Given the description of an element on the screen output the (x, y) to click on. 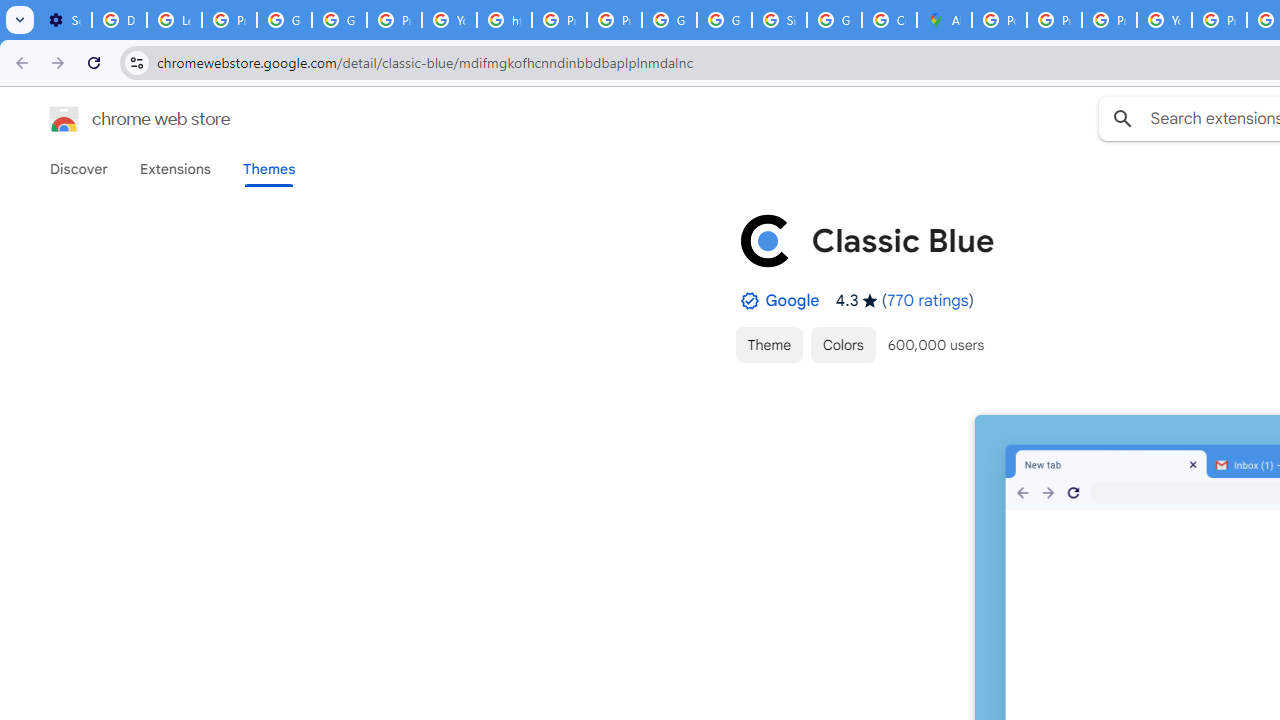
Colors (843, 344)
Sign in - Google Accounts (779, 20)
https://scholar.google.com/ (504, 20)
Policy Accountability and Transparency - Transparency Center (998, 20)
Item logo image for Classic Blue (765, 240)
770 ratings (927, 300)
Privacy Help Center - Policies Help (559, 20)
Google Account Help (284, 20)
Chrome Web Store logo (63, 118)
